Given the description of an element on the screen output the (x, y) to click on. 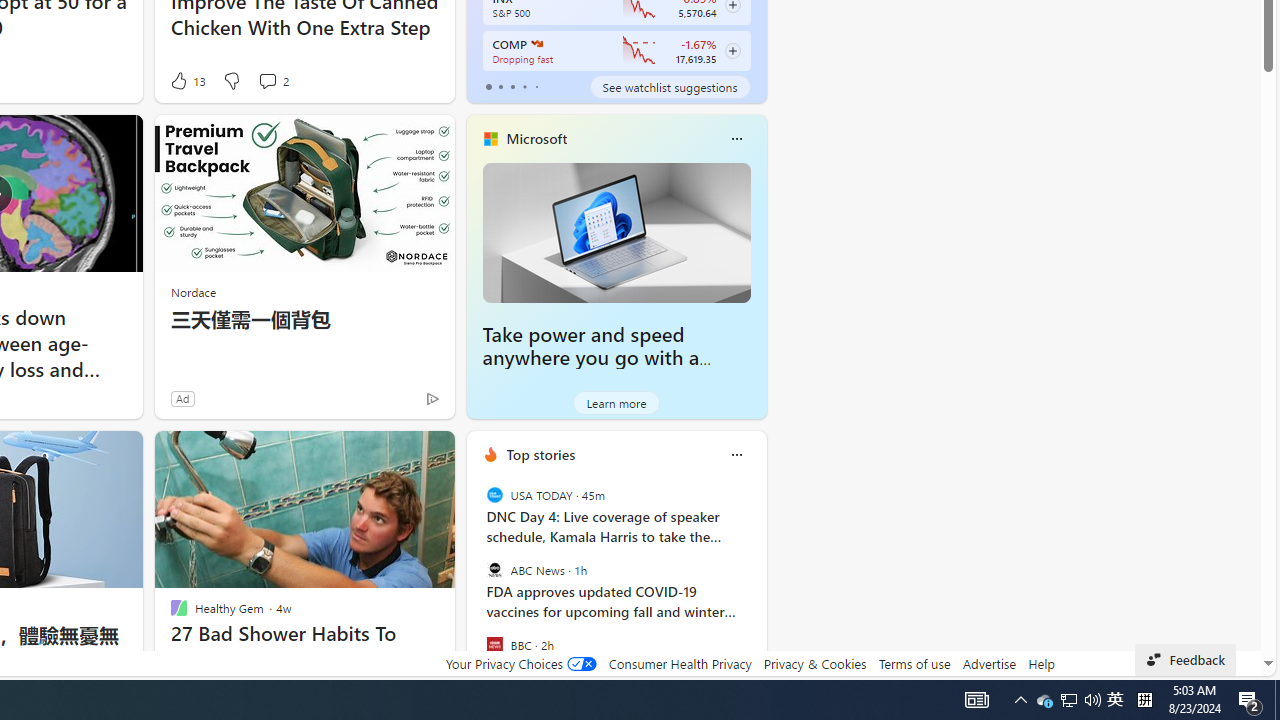
Class: icon-img (736, 454)
Take power and speed anywhere you go with a Windows laptop. (616, 232)
Take power and speed anywhere you go with a Windows laptop. (591, 357)
ABC News (494, 570)
tab-2 (511, 86)
next (756, 583)
Class: follow-button  m (732, 51)
